Given the description of an element on the screen output the (x, y) to click on. 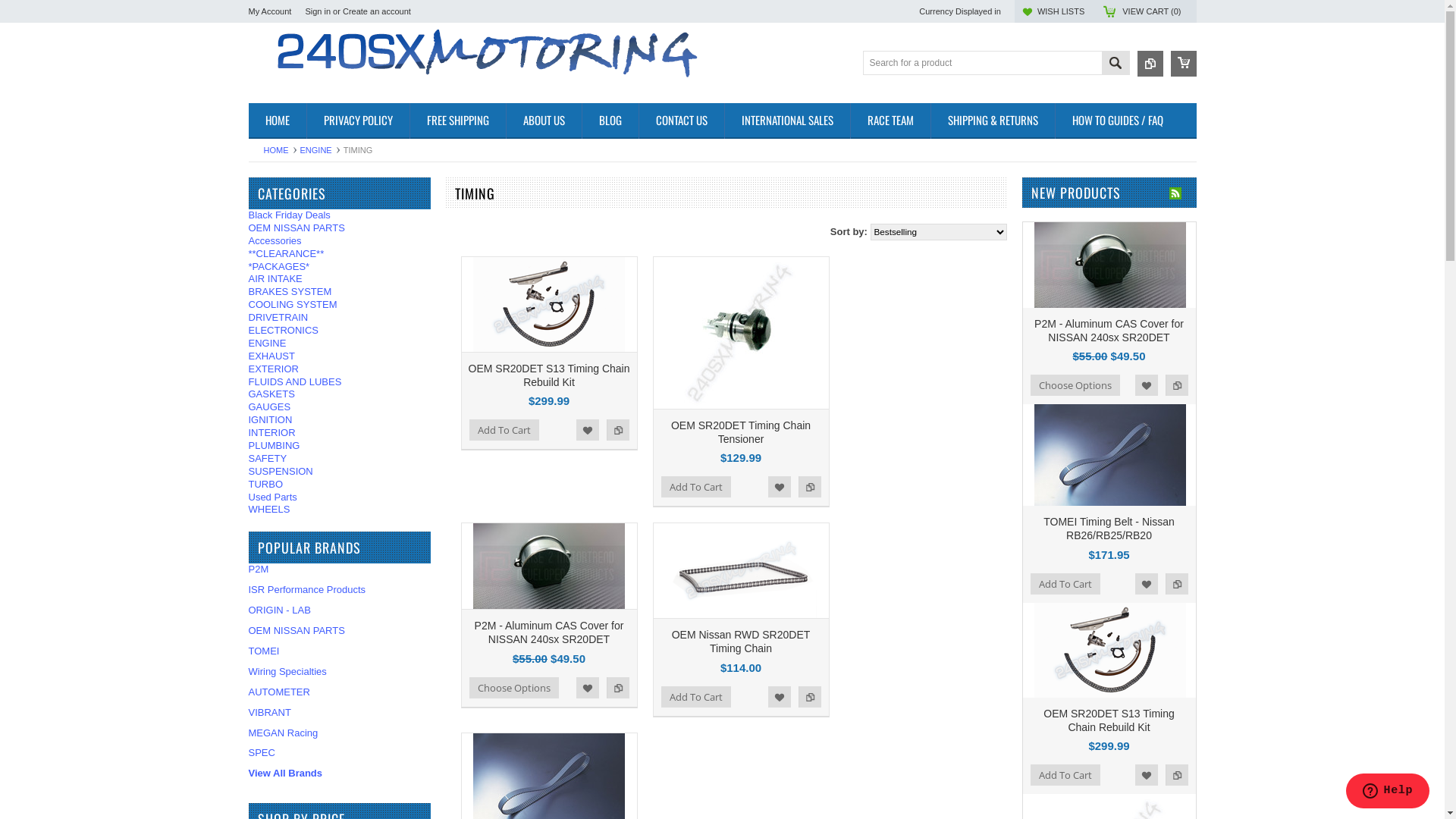
Add to Wishlist Element type: text (587, 687)
Add to Compare Element type: text (808, 486)
EXTERIOR Element type: text (339, 369)
Add to Wishlist Element type: text (1145, 384)
Add to Compare Element type: text (617, 429)
SEARCH Element type: text (1114, 64)
Create an account Element type: text (376, 11)
HOME Element type: text (277, 120)
HOME Element type: text (279, 149)
GASKETS Element type: text (339, 394)
BRAKES SYSTEM Element type: text (339, 291)
Add to Wishlist Element type: text (778, 486)
SUSPENSION Element type: text (339, 471)
HOW TO GUIDES / FAQ Element type: text (1116, 120)
Accessories Element type: text (339, 241)
View All Brands Element type: text (285, 772)
*PACKAGES* Element type: text (339, 266)
OEM SR20DET S13 Timing Chain Rebuild Kit Element type: text (1108, 720)
Compare Product Element type: hover (1150, 63)
Black Friday Deals Element type: text (339, 215)
ISR Performance Products Element type: text (307, 589)
PRIVACY POLICY Element type: text (357, 120)
FREE SHIPPING Element type: text (457, 120)
ENGINE Element type: text (339, 343)
SAFETY Element type: text (339, 458)
CONTACT US Element type: text (681, 120)
New Products RSS Feed for TIMING Element type: hover (1175, 193)
Add to Compare Element type: text (808, 696)
COOLING SYSTEM Element type: text (339, 304)
Add to Wishlist Element type: text (1145, 583)
P2M Element type: text (258, 568)
IGNITION Element type: text (339, 420)
ELECTRONICS Element type: text (339, 330)
Opens a widget where you can chat to one of our agents Element type: hover (1387, 792)
WHEELS Element type: text (339, 509)
VIEW CART (0) Element type: text (1151, 10)
View Cart Element type: hover (1183, 63)
P2M - Aluminum CAS Cover for NISSAN 240sx SR20DET Element type: text (1108, 330)
SHIPPING & RETURNS Element type: text (991, 120)
INTERNATIONAL SALES Element type: text (786, 120)
Add To Cart Element type: text (1064, 583)
GAUGES Element type: text (339, 407)
Add to Wishlist Element type: text (778, 696)
ENGINE Element type: text (319, 149)
Choose Options Element type: text (513, 687)
OEM Nissan RWD SR20DET Timing Chain Element type: text (740, 641)
Add To Cart Element type: text (696, 486)
Add to Wishlist Element type: text (1145, 774)
Add to Compare Element type: text (1175, 384)
OEM NISSAN PARTS Element type: text (339, 228)
PLUMBING Element type: text (339, 445)
Sign in Element type: text (317, 11)
INTERIOR Element type: text (339, 432)
BLOG Element type: text (608, 120)
My Account Element type: text (269, 10)
Add to Compare Element type: text (1175, 774)
WISH LISTS Element type: text (1060, 10)
Wiring Specialties Element type: text (287, 671)
Add To Cart Element type: text (1064, 774)
Add to Compare Element type: text (617, 687)
EXHAUST Element type: text (339, 356)
**CLEARANCE** Element type: text (339, 253)
TURBO Element type: text (339, 484)
ORIGIN - LAB Element type: text (279, 609)
Add To Cart Element type: text (503, 429)
SPEC Element type: text (261, 752)
RACE TEAM Element type: text (889, 120)
Add To Cart Element type: text (696, 696)
OEM SR20DET S13 Timing Chain Rebuild Kit Element type: text (549, 375)
Add to Wishlist Element type: text (587, 429)
Choose Options Element type: text (1074, 384)
OEM SR20DET Timing Chain Tensioner Element type: text (740, 432)
Used Parts Element type: text (339, 497)
Add to Compare Element type: text (1175, 583)
FLUIDS AND LUBES Element type: text (339, 382)
ABOUT US Element type: text (542, 120)
TOMEI Timing Belt - Nissan RB26/RB25/RB20 Element type: text (1108, 528)
P2M - Aluminum CAS Cover for NISSAN 240sx SR20DET Element type: text (549, 632)
OEM NISSAN PARTS Element type: text (296, 630)
TOMEI Element type: text (263, 650)
DRIVETRAIN Element type: text (339, 317)
MEGAN Racing Element type: text (283, 731)
AUTOMETER Element type: text (279, 691)
VIBRANT Element type: text (269, 712)
AIR INTAKE Element type: text (339, 279)
